Given the description of an element on the screen output the (x, y) to click on. 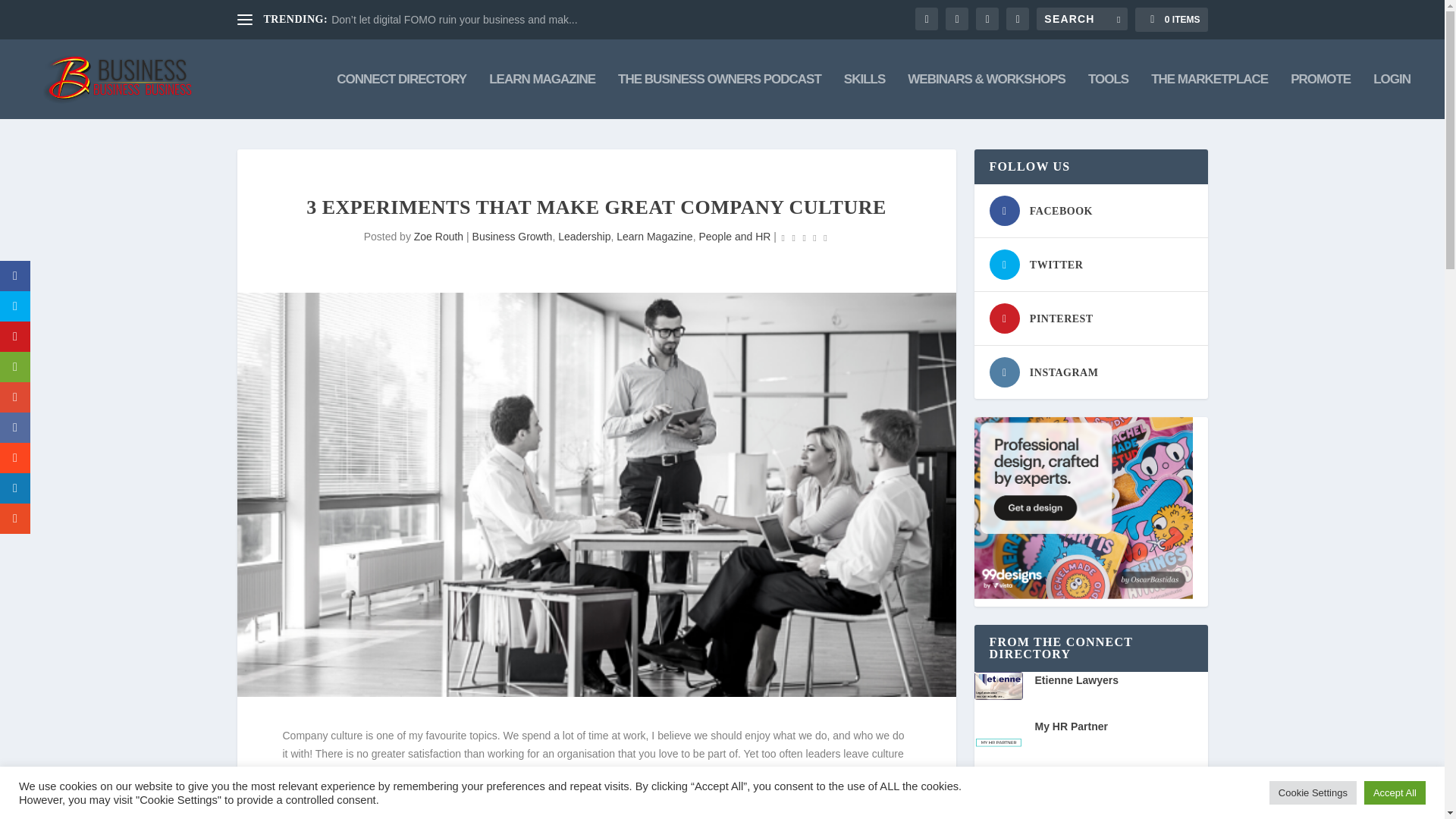
0 ITEMS (1171, 19)
LEARN MAGAZINE (542, 95)
People and HR (734, 236)
Search for: (1081, 18)
CONNECT DIRECTORY (400, 95)
THE MARKETPLACE (1209, 95)
0 Items in Cart (1171, 19)
Learn Magazine (654, 236)
Posts by Zoe Routh (438, 236)
Rating: 0.00 (803, 237)
Leadership (583, 236)
PROMOTE (1320, 95)
Zoe Routh (438, 236)
THE BUSINESS OWNERS PODCAST (719, 95)
SKILLS (864, 95)
